Given the description of an element on the screen output the (x, y) to click on. 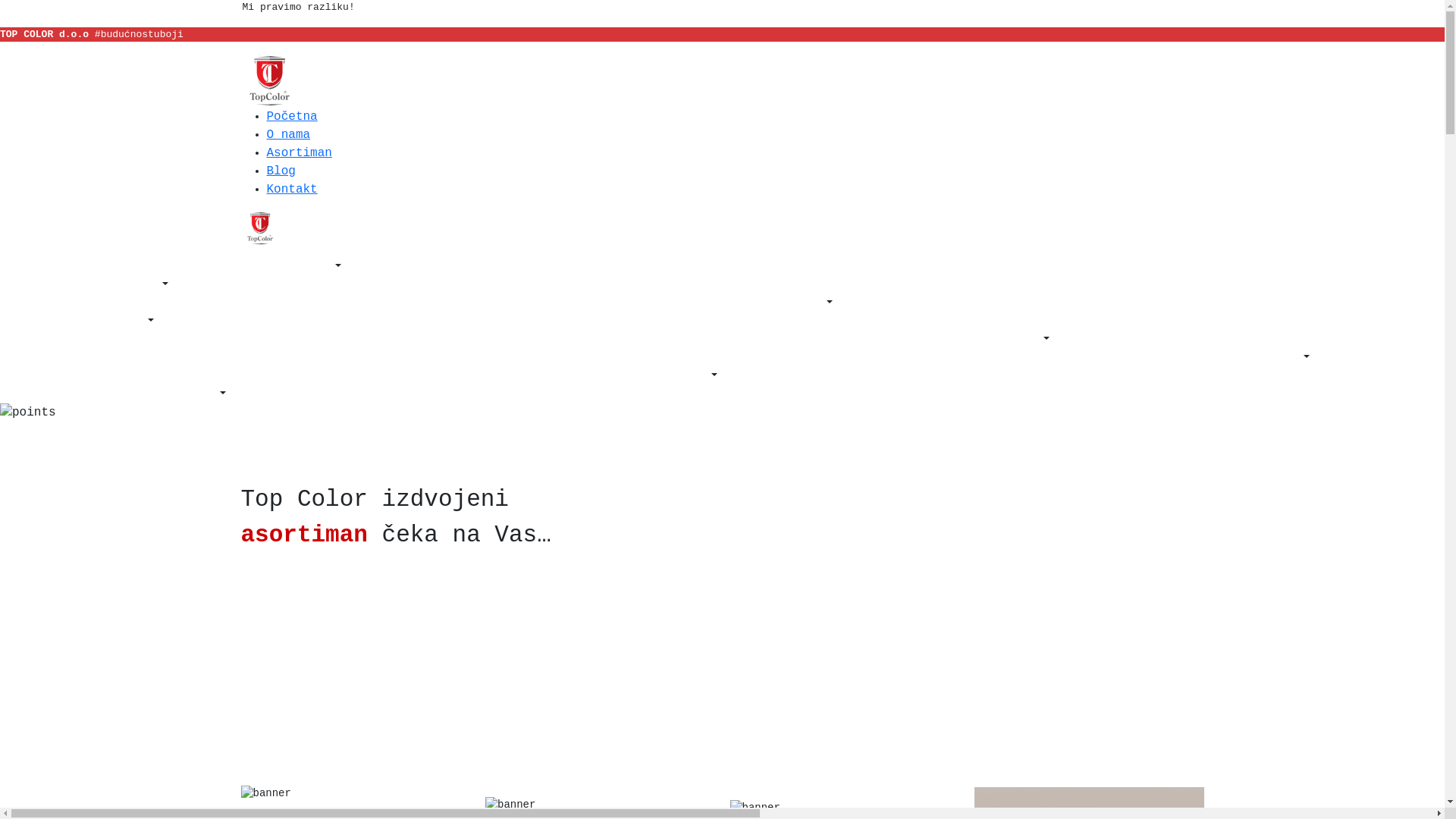
Kuhinja Element type: text (536, 685)
Blog Element type: text (280, 171)
Top Color Element type: hover (269, 80)
Asortiman Element type: text (299, 153)
Kupatilo Element type: text (779, 686)
Kontakt Element type: text (291, 189)
Vrata Element type: text (1005, 680)
Top Color Element type: hover (259, 228)
O nama Element type: text (288, 134)
